Given the description of an element on the screen output the (x, y) to click on. 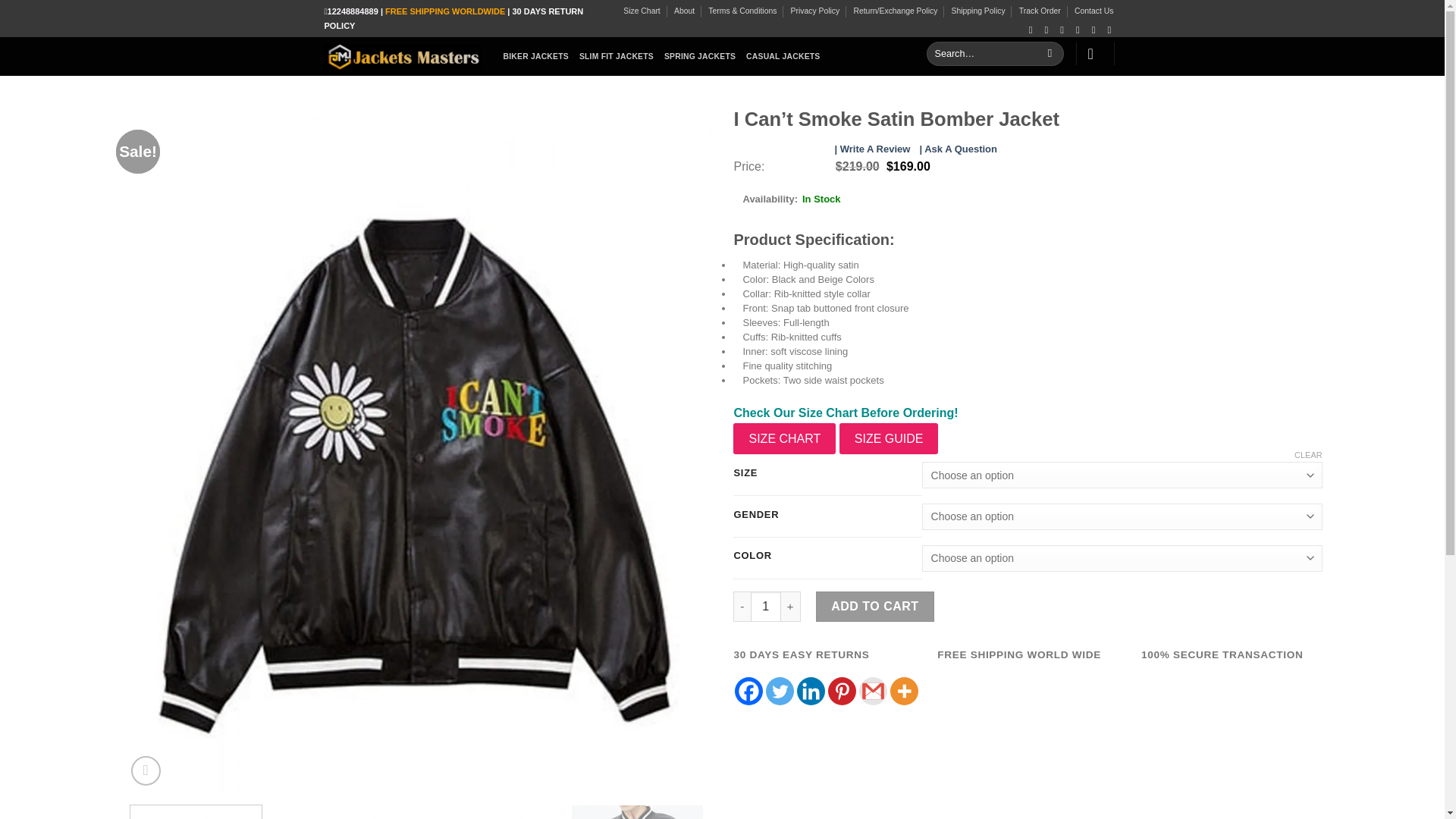
Shipping Policy (979, 11)
SLIM FIT JACKETS (616, 56)
SPRING JACKETS (699, 56)
1 (765, 606)
Jackets Masters (402, 56)
Size Chart (642, 11)
Contact Us (1093, 11)
Search (1050, 53)
Privacy Policy (815, 11)
CASUAL JACKETS (782, 56)
